Given the description of an element on the screen output the (x, y) to click on. 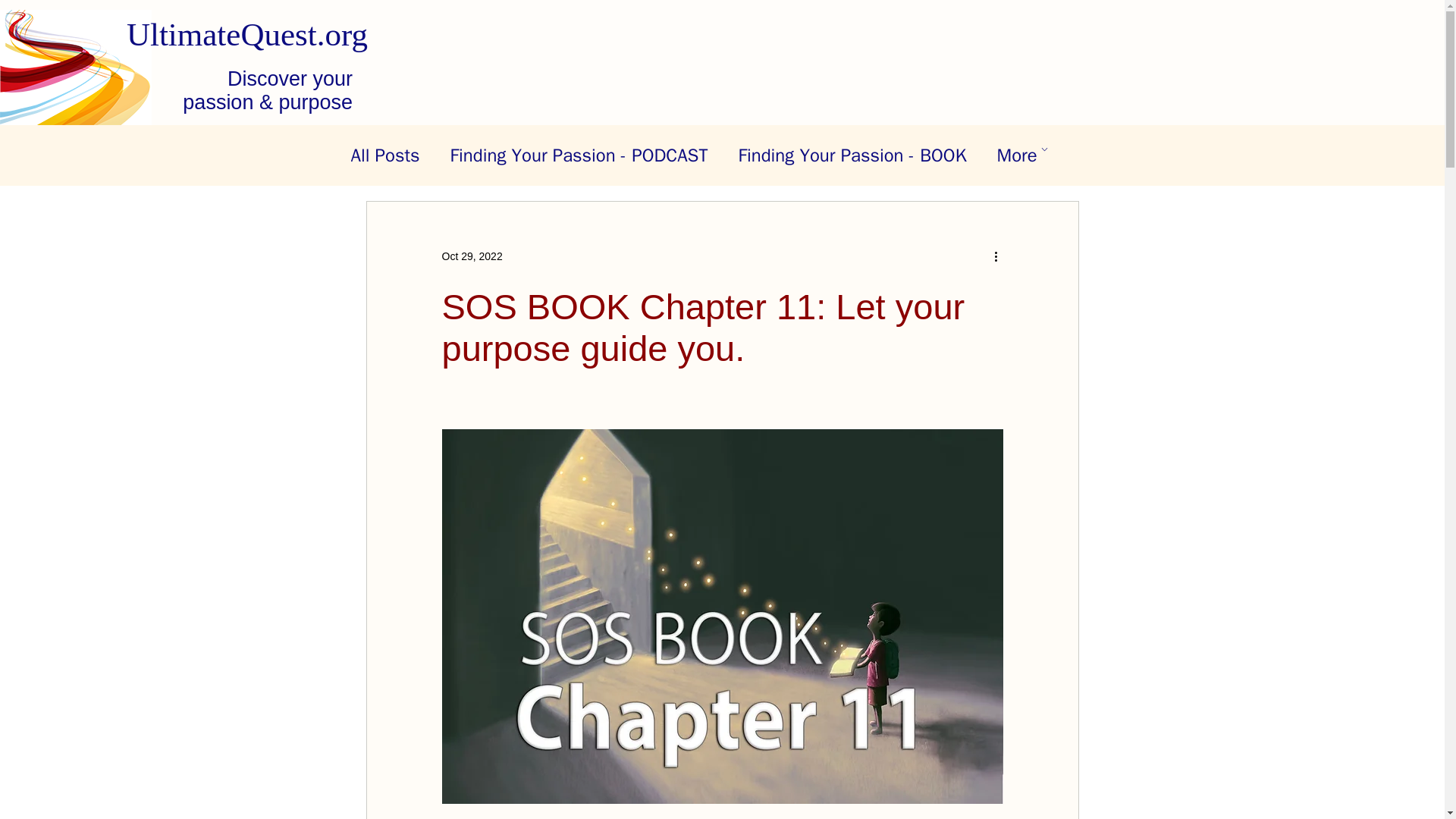
Oct 29, 2022 (471, 256)
UltimateQuest.org (247, 34)
Finding Your Passion - BOOK (852, 155)
Finding Your Passion - PODCAST (578, 155)
All Posts (384, 155)
